Given the description of an element on the screen output the (x, y) to click on. 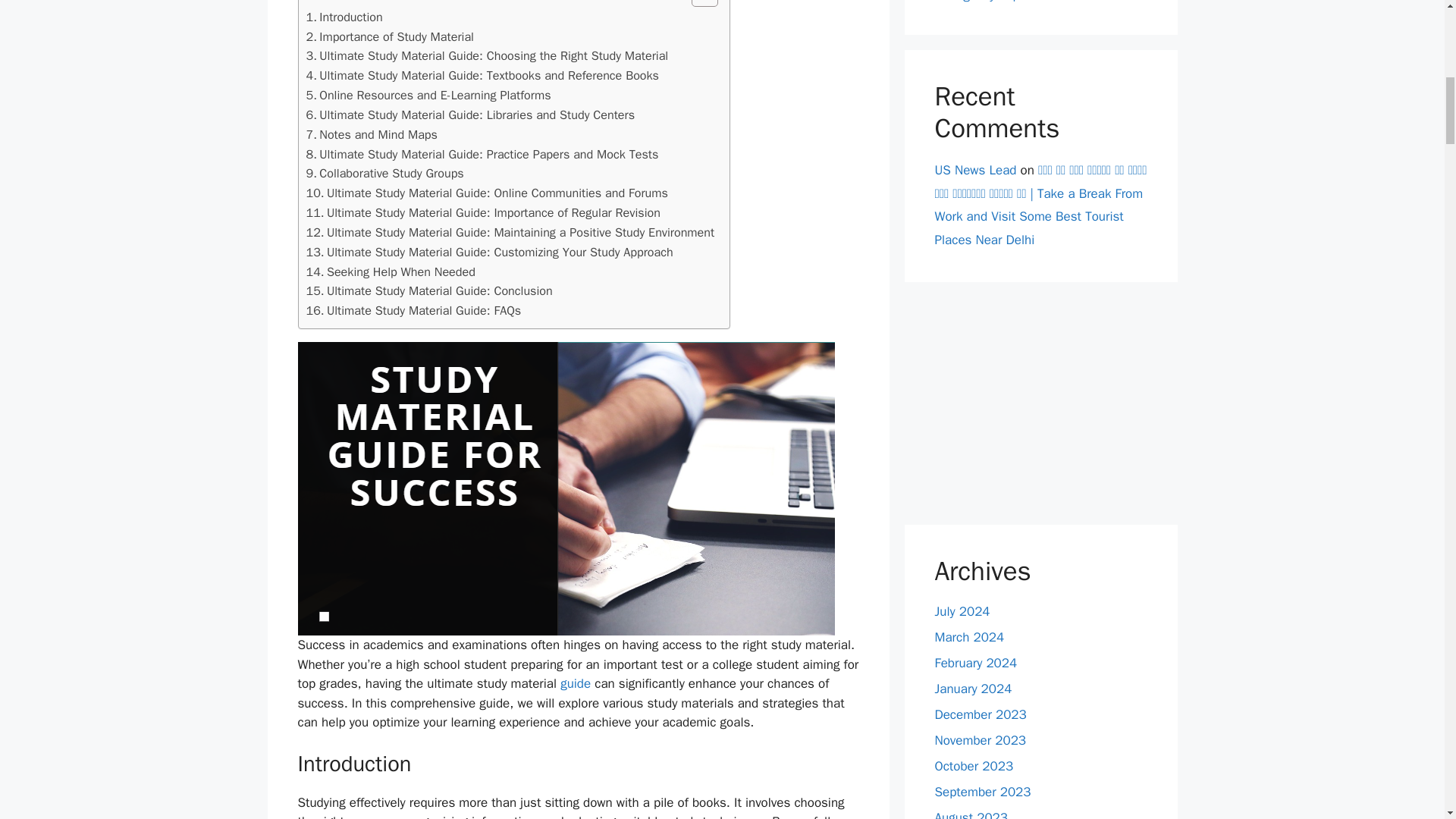
Ultimate Study Material Guide: FAQs (413, 311)
Collaborative Study Groups (384, 173)
Online Resources and E-Learning Platforms (428, 95)
guide (575, 683)
Ultimate Study Material Guide: Textbooks and Reference Books (482, 75)
Online Resources and E-Learning Platforms (428, 95)
Ultimate Study Material Guide: Online Communities and Forums (486, 193)
Ultimate Study Material Guide: Libraries and Study Centers (469, 115)
Notes and Mind Maps (371, 134)
Ultimate Study Material Guide: Online Communities and Forums (486, 193)
